Given the description of an element on the screen output the (x, y) to click on. 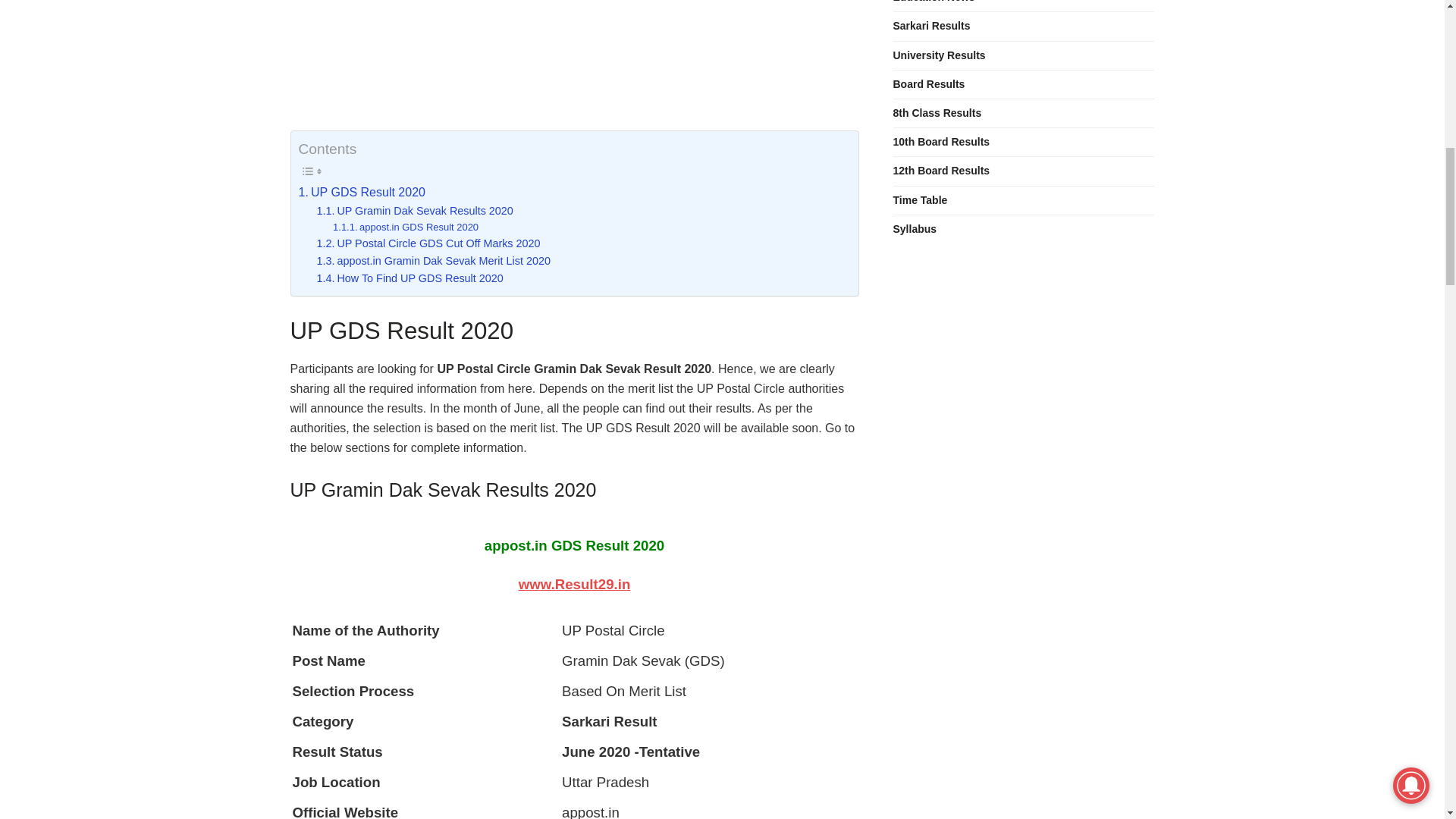
UP Postal Circle GDS Cut Off Marks 2020 (428, 243)
How To Find UP GDS Result 2020 (410, 278)
Advertisement (574, 65)
appost.in Gramin Dak Sevak Merit List 2020 (433, 261)
appost.in GDS Result 2020 (406, 227)
UP GDS Result 2020 (361, 192)
appost.in Gramin Dak Sevak Merit List 2020 (433, 261)
UP GDS Result 2020 (361, 192)
appost.in GDS Result 2020 (406, 227)
UP Gramin Dak Sevak Results 2020 (415, 211)
www.Result29.in (574, 584)
UP Gramin Dak Sevak Results 2020 (415, 211)
UP Postal Circle GDS Cut Off Marks 2020 (428, 243)
How To Find UP GDS Result 2020 (410, 278)
